Given the description of an element on the screen output the (x, y) to click on. 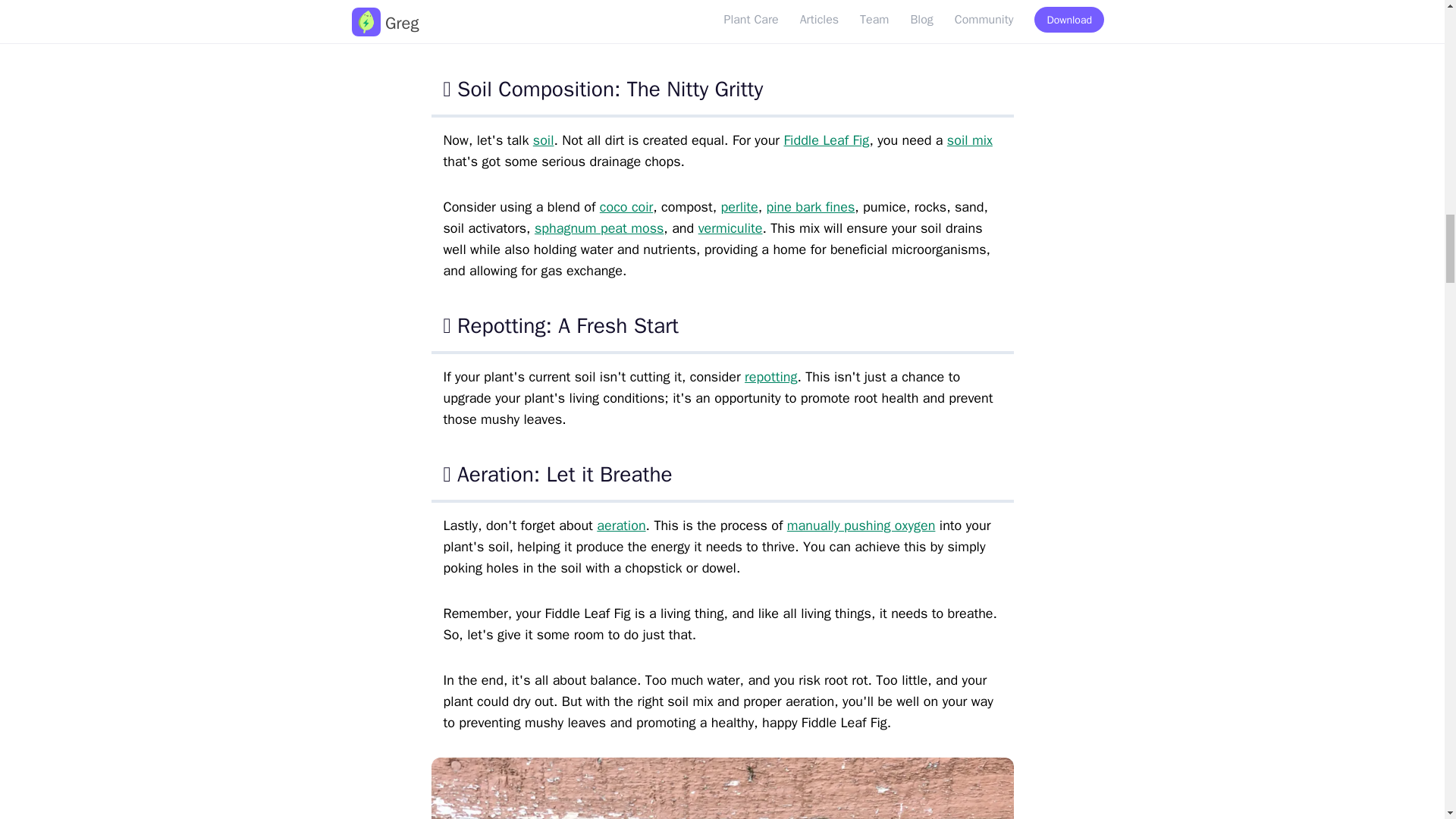
Fiddle Leaf Fig (826, 139)
perlite (738, 207)
coco coir (625, 207)
soil (543, 139)
waterlogged soil (636, 33)
pine bark fines (809, 207)
soil mix (969, 139)
